Given the description of an element on the screen output the (x, y) to click on. 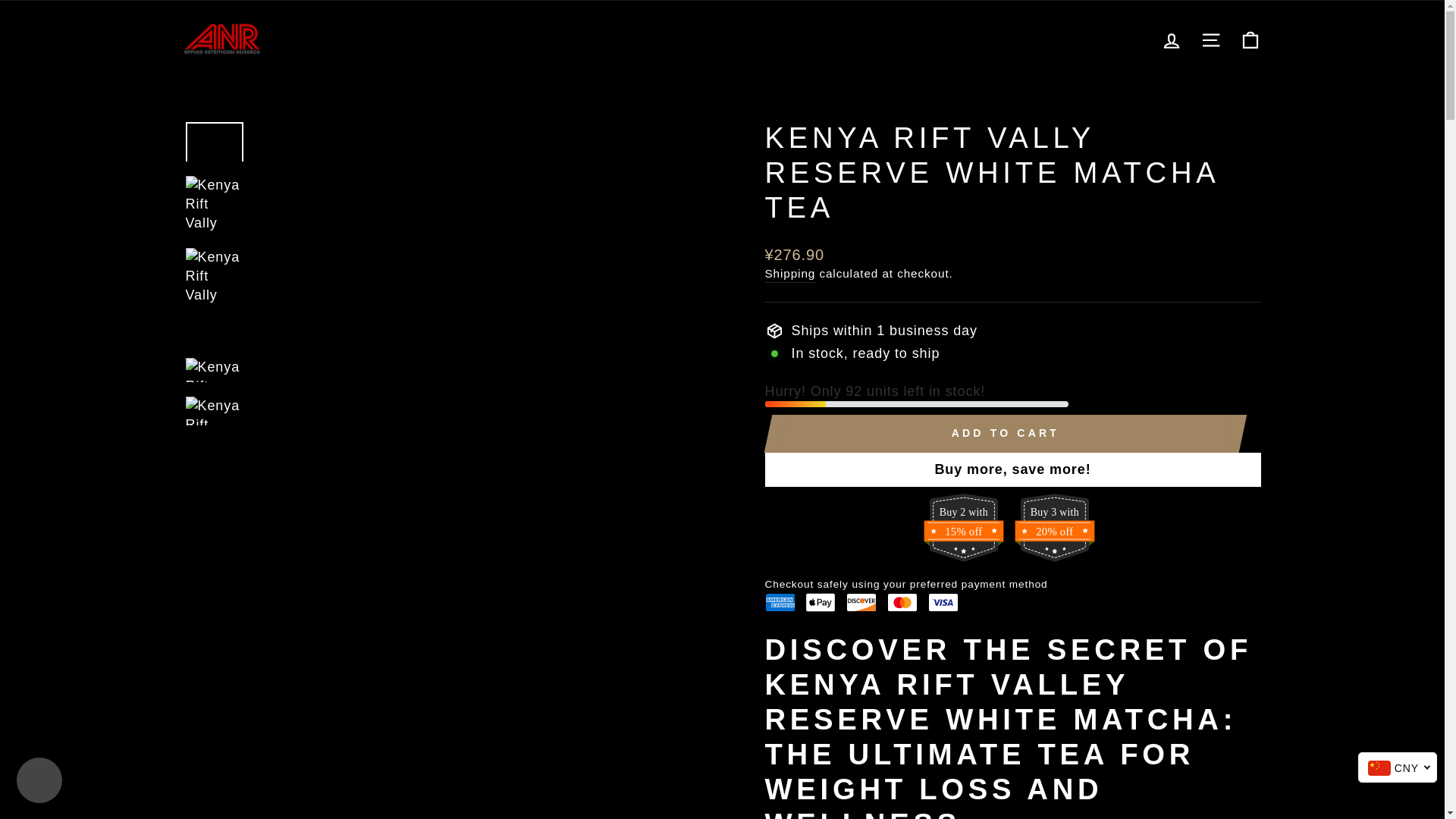
Shopify online store chat (38, 781)
LOG IN (1171, 39)
ADD TO CART (1005, 433)
CART (1249, 39)
SITE NAVIGATION (1210, 39)
Volume Discount badge (1054, 527)
Volume Discount badge (963, 527)
Shipping (789, 273)
